Given the description of an element on the screen output the (x, y) to click on. 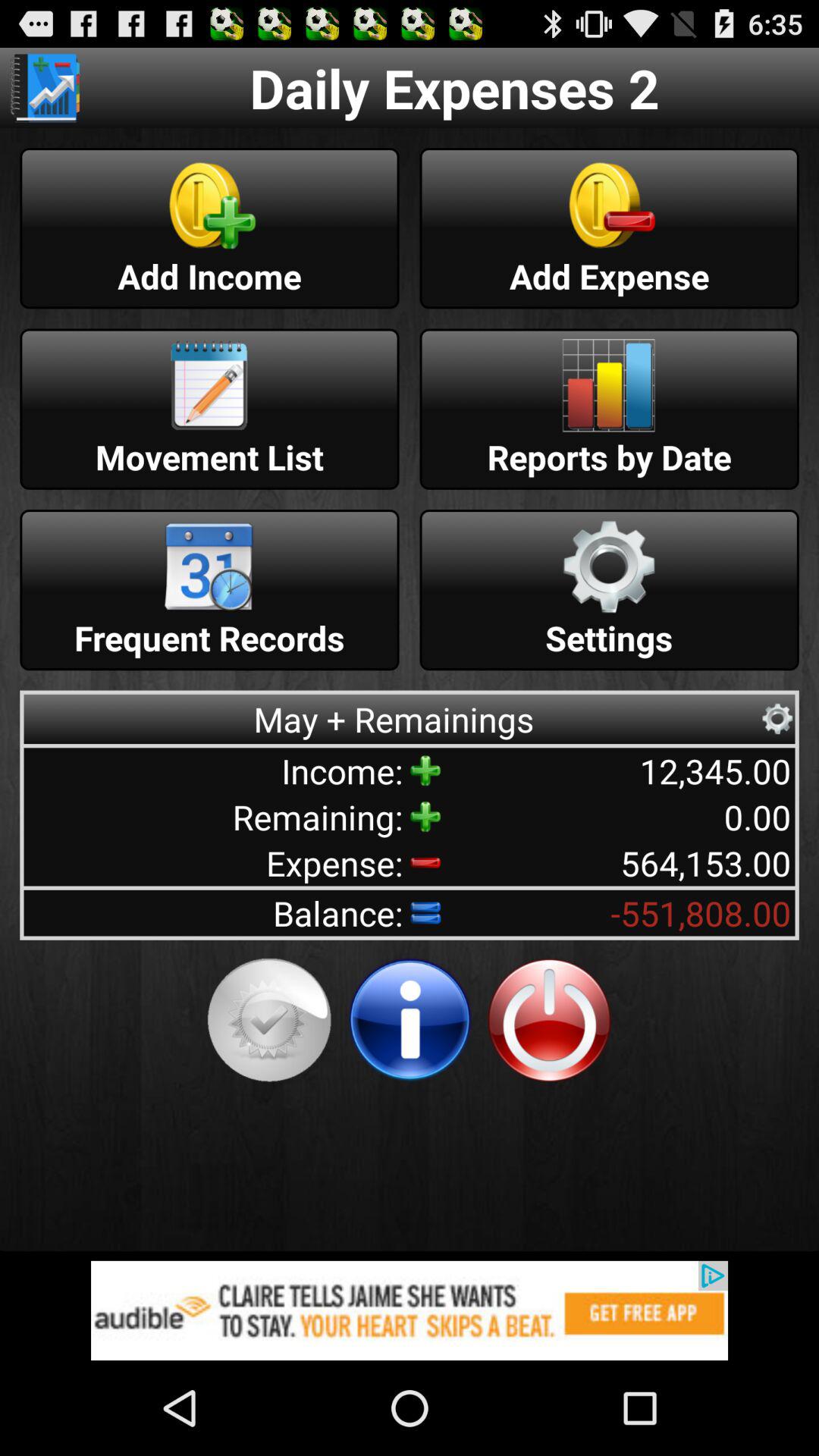
select add expense (609, 228)
